Given the description of an element on the screen output the (x, y) to click on. 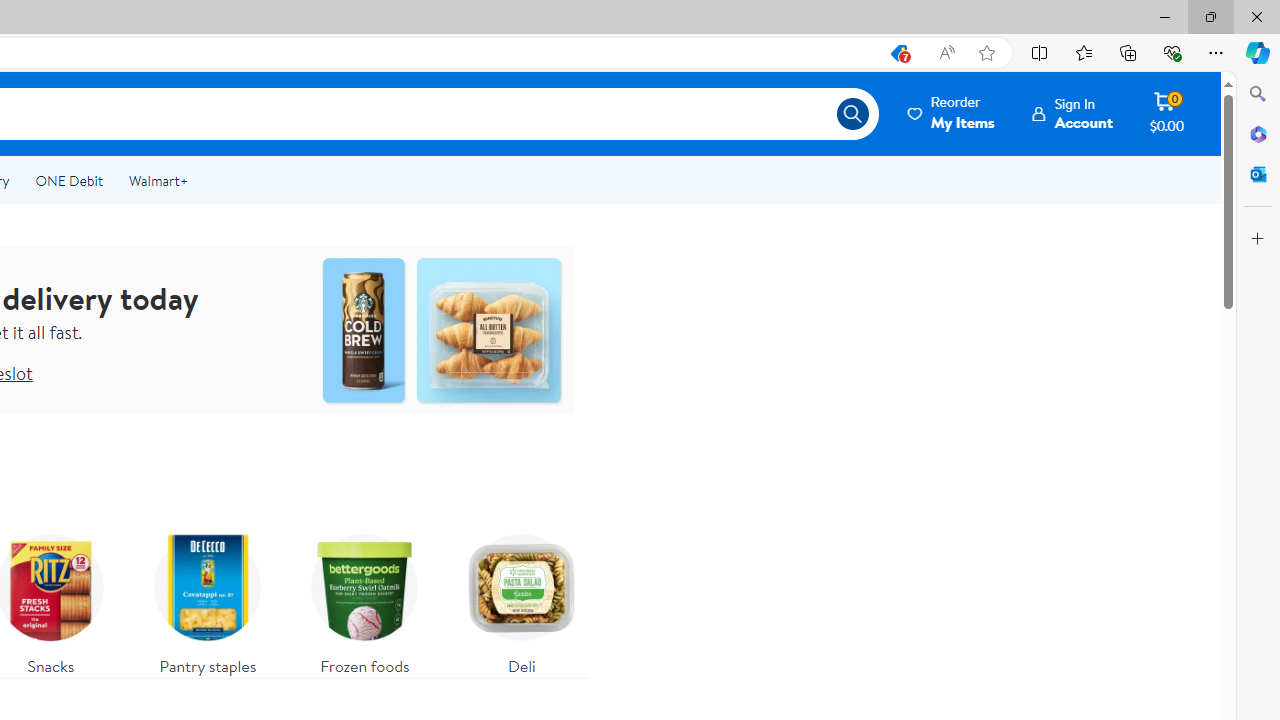
Walmart+ (158, 180)
Pantry staples (207, 599)
Sign InAccount (1072, 113)
ReorderMy Items (952, 113)
Sign In Account (1072, 113)
Frozen foods (365, 599)
Frozen foods (364, 599)
Cart contains 0 items Total Amount $0.00 (1166, 113)
Deli (521, 599)
